Given the description of an element on the screen output the (x, y) to click on. 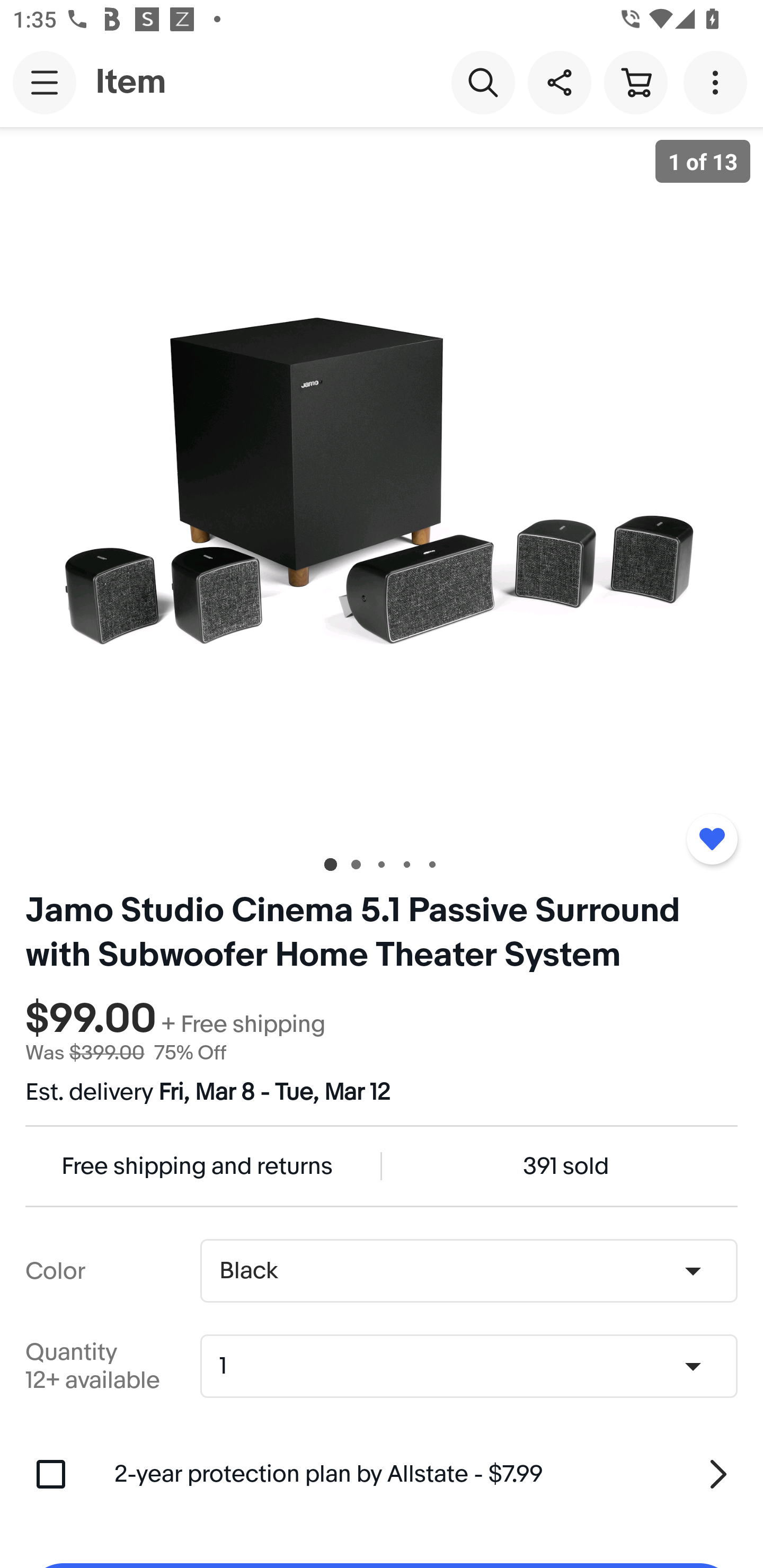
Main navigation, open (44, 82)
Search (482, 81)
Share this item (559, 81)
Cart button shopping cart (635, 81)
More options (718, 81)
Item image 1 of 13 (381, 482)
Added to watchlist (711, 838)
Color,Black Black (468, 1270)
Quantity,1,12+ available 1 (474, 1365)
2-year protection plan by Allstate - $7.99 (425, 1473)
